Given the description of an element on the screen output the (x, y) to click on. 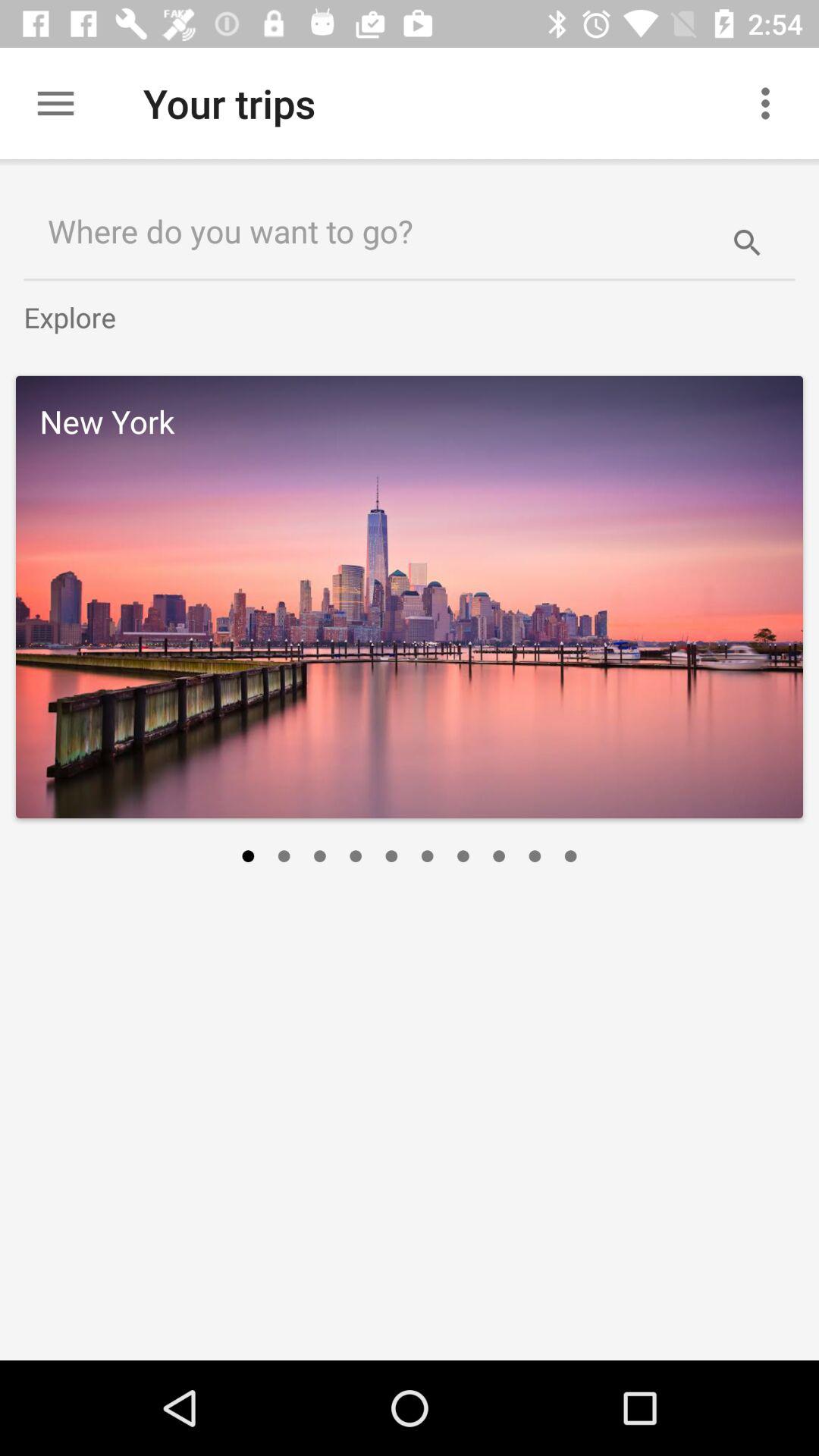
turn off the icon next to the your trips icon (771, 103)
